Given the description of an element on the screen output the (x, y) to click on. 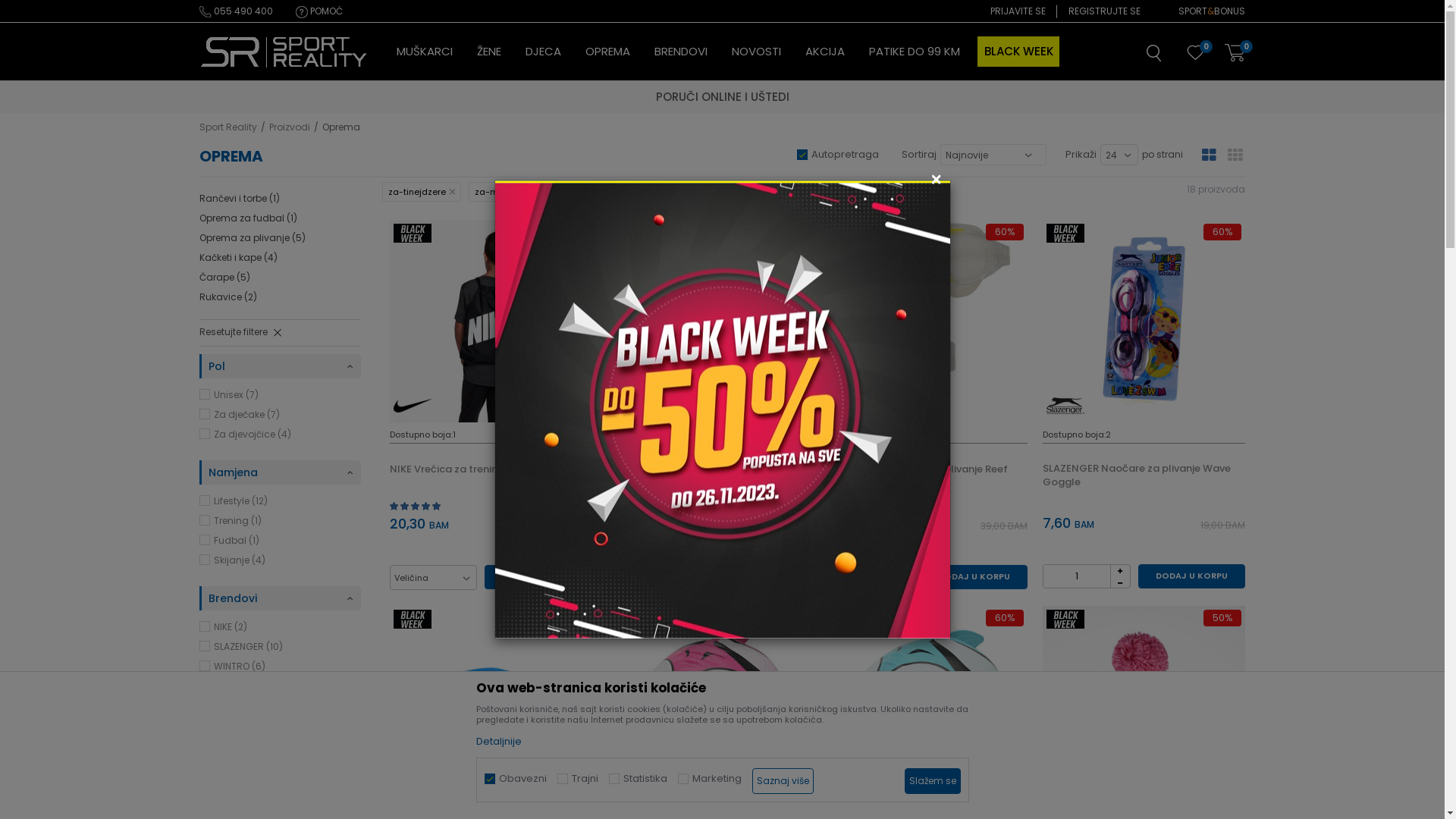
NIKE Element type: hover (630, 405)
Sport Reality Element type: text (227, 126)
SLAZENGER Element type: hover (1065, 405)
AKCIJA Element type: text (824, 51)
Proizvodi Element type: text (288, 126)
Sport Reality Element type: hover (283, 51)
0 Element type: text (1234, 53)
SLAZENGER Element type: hover (847, 791)
NOVOSTI Element type: text (755, 51)
DODAJ U KORPU Element type: text (755, 576)
Resetujte filtere Element type: text (279, 332)
Advertisement popup Element type: hover (721, 409)
SLAZENGER Kapa za plivanje Fun Sili Cap 00  Element type: hover (708, 706)
SLAZENGER Element type: hover (412, 791)
WINTRO Kapa Fuze Beanie  Element type: hover (1143, 706)
NIKE Golmanske rukavice Goalkeeper Match Element type: text (708, 475)
REGISTRUJTE SE Element type: text (1104, 11)
SLAZENGER Kapa za plivanje Silicone Cap  Element type: hover (926, 706)
SPORT&BONUS Element type: text (1211, 11)
BLACK WEEK Element type: text (1018, 51)
Rukavice (2) Element type: text (227, 297)
NIKE Golmanske rukavice Goalkeeper Match  Element type: hover (708, 320)
SLAZENGER Element type: hover (630, 791)
OPREMA Element type: text (607, 51)
DODAJ U KORPU Element type: text (538, 576)
PATIKE DO 99 KM Element type: text (914, 51)
BRENDOVI Element type: text (679, 51)
Oprema za fudbal (1) Element type: text (247, 218)
Oprema za plivanje (5) Element type: text (251, 238)
DODAJ U KORPU Element type: text (1191, 576)
WINTRO Element type: hover (1065, 791)
DODAJ U KORPU Element type: text (973, 576)
Detaljnije Element type: text (498, 741)
SLAZENGER Element type: hover (847, 405)
055 490 400 Element type: text (235, 11)
DJECA Element type: text (542, 51)
PRIJAVITE SE Element type: text (1017, 11)
NIKE Element type: hover (412, 405)
0 Element type: text (1194, 54)
